Given the description of an element on the screen output the (x, y) to click on. 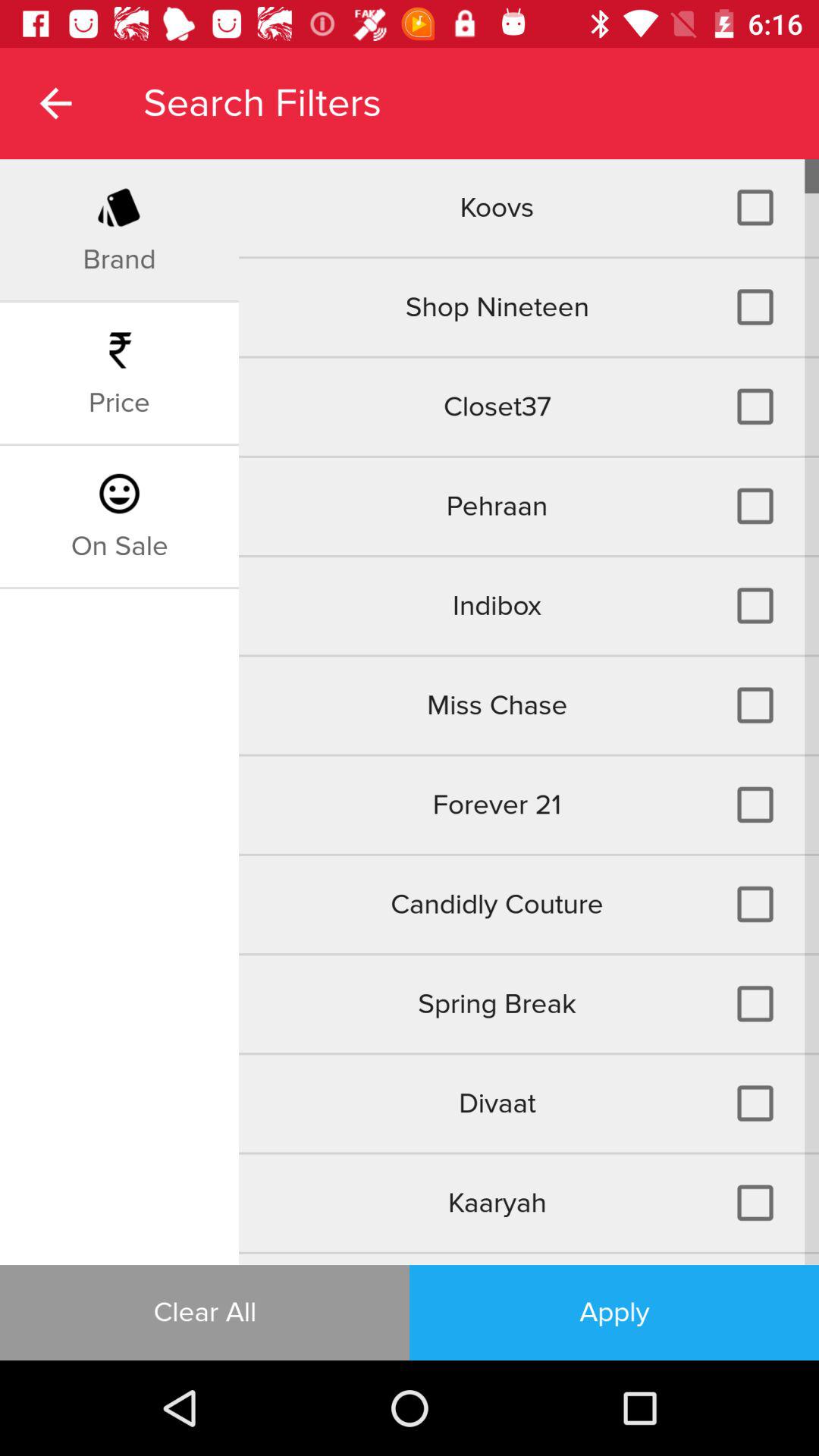
launch the icon below indibox (528, 705)
